Given the description of an element on the screen output the (x, y) to click on. 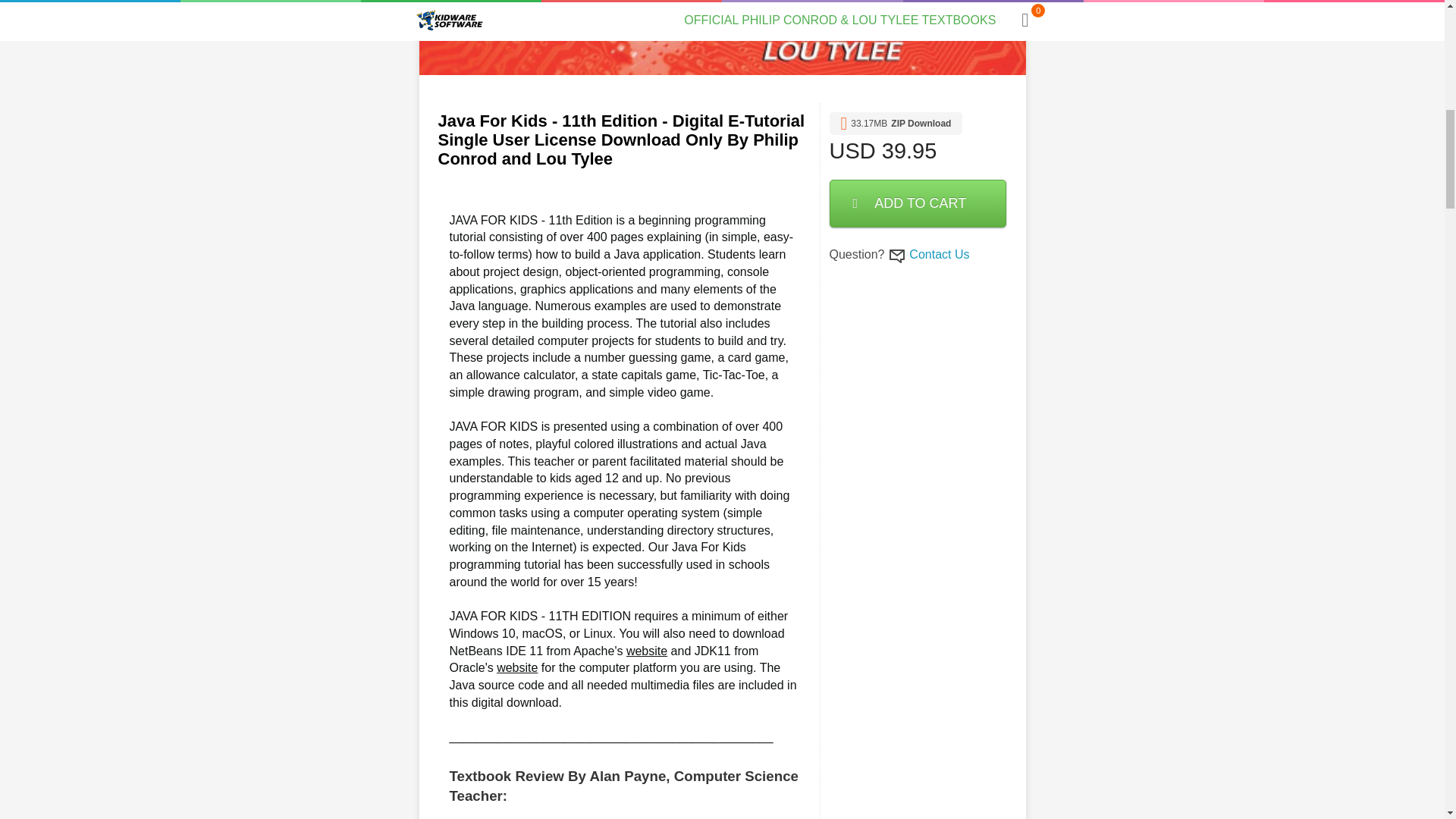
website (646, 650)
website (516, 667)
Contact Us (938, 254)
ADD TO CART (918, 203)
